Given the description of an element on the screen output the (x, y) to click on. 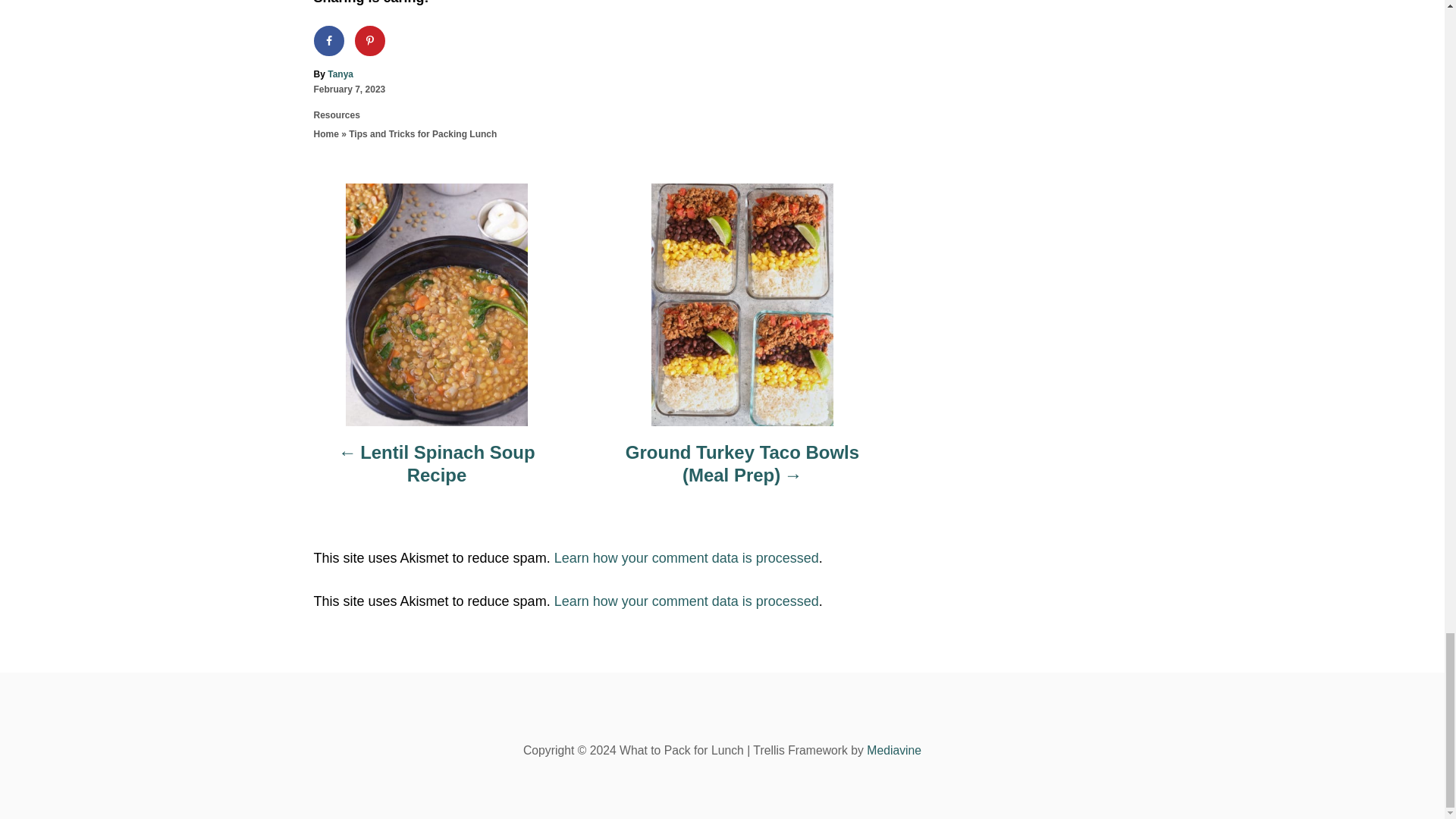
Save to Pinterest (370, 40)
Resources (336, 114)
Home (326, 133)
Lentil Spinach Soup Recipe (437, 471)
Learn how your comment data is processed (686, 557)
Learn how your comment data is processed (686, 601)
Tanya (340, 73)
Share on Facebook (328, 40)
